Given the description of an element on the screen output the (x, y) to click on. 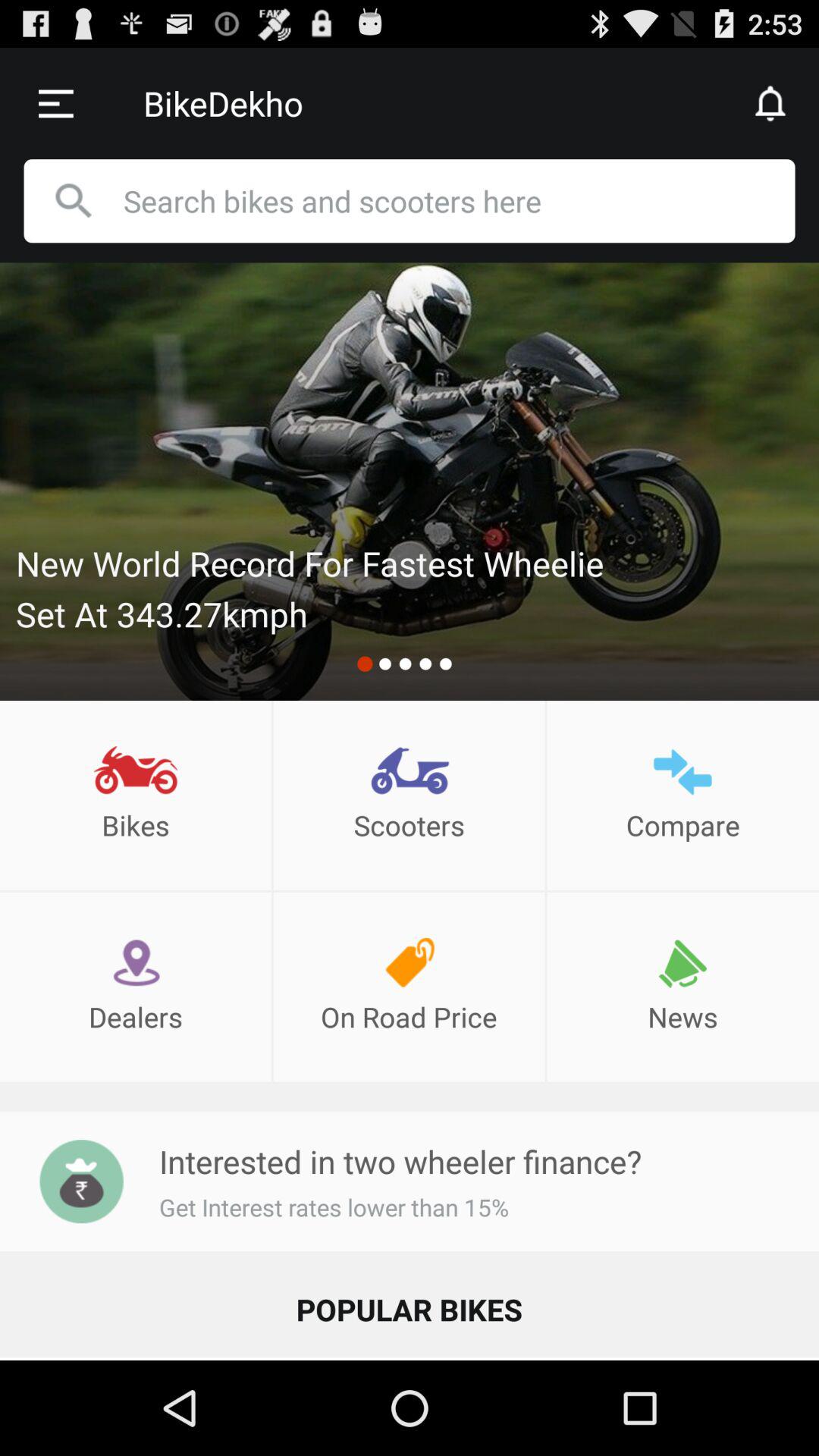
click on the icon above compare (682, 770)
click on the icon above scooters (409, 770)
click on the notification bell icon below 253 (771, 102)
